Given the description of an element on the screen output the (x, y) to click on. 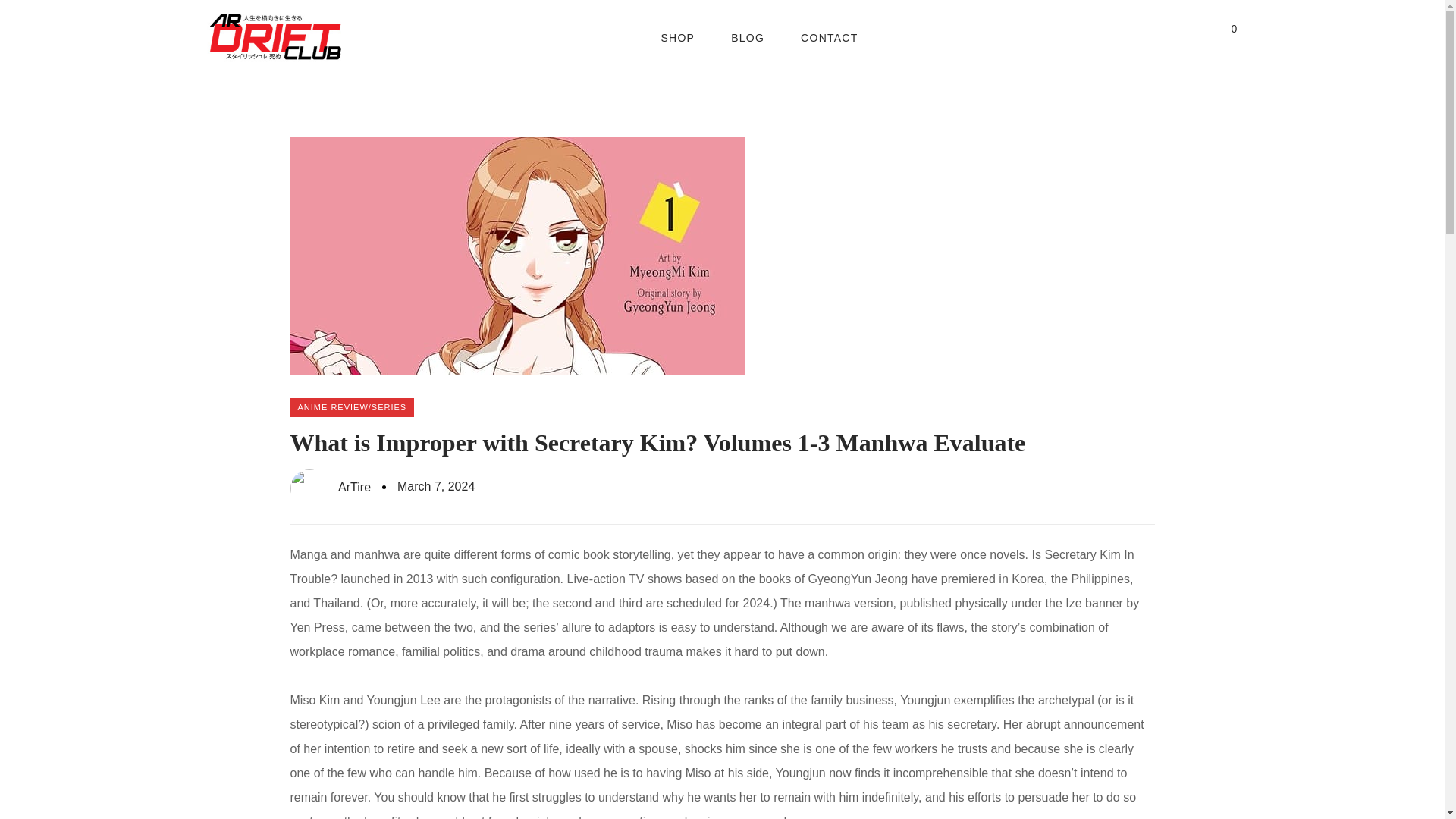
SHOP (677, 37)
ArTire (330, 487)
CONTACT (828, 37)
BLOG (747, 37)
0 (1229, 37)
March 7, 2024 (435, 486)
AR Drift Club (274, 37)
